Given the description of an element on the screen output the (x, y) to click on. 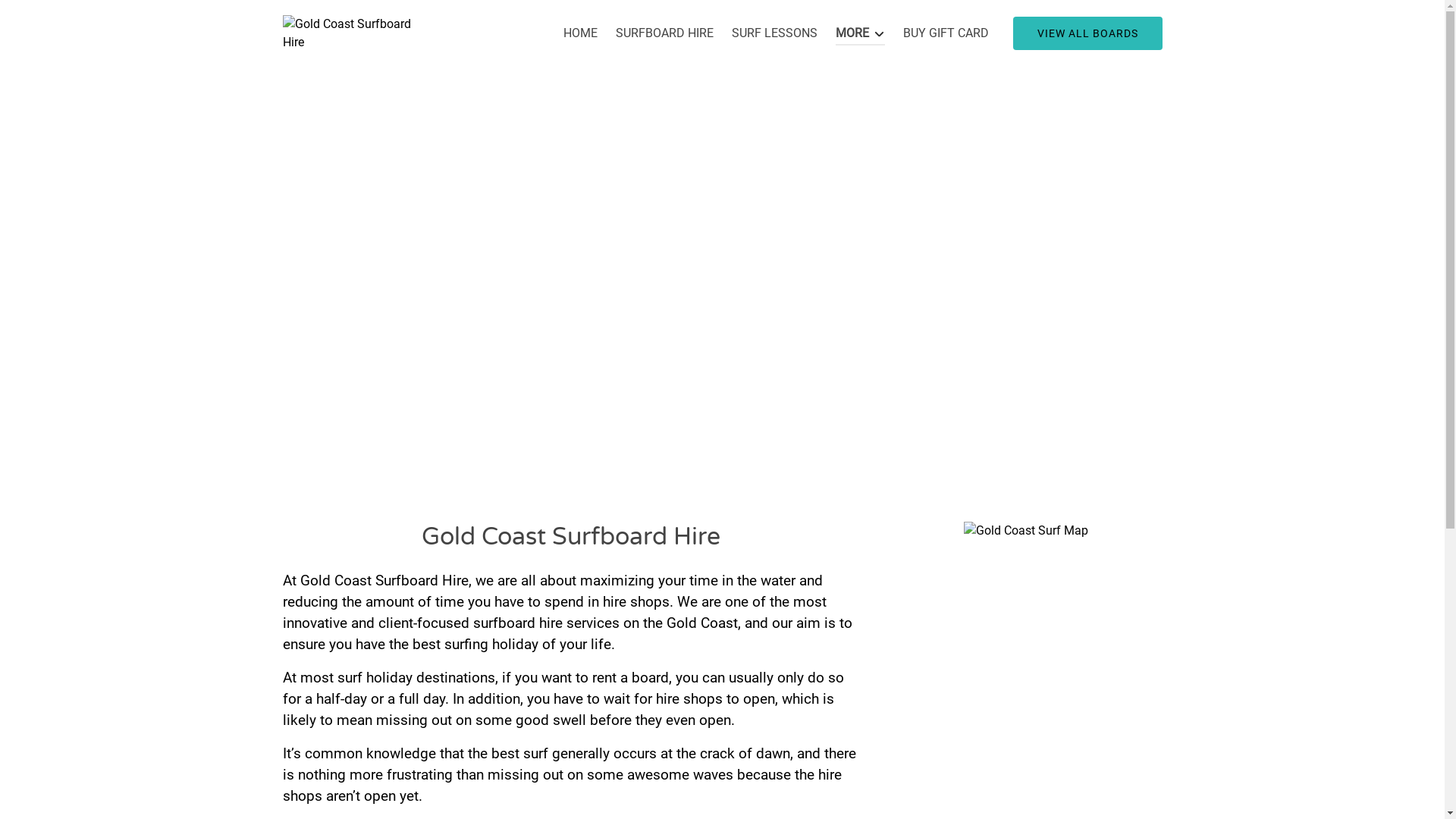
VIEW ALL BOARDS Element type: text (1087, 33)
SURFBOARD HIRE Element type: text (664, 33)
BUY GIFT CARD Element type: text (945, 33)
Skip to footer Element type: text (43, 16)
Gold-Coast-Surf-Map Element type: hover (1025, 530)
HOME Element type: text (580, 33)
MORE Element type: text (860, 33)
Skip to content Element type: text (47, 16)
Skip to primary navigation Element type: text (77, 16)
SURF LESSONS Element type: text (774, 33)
